Given the description of an element on the screen output the (x, y) to click on. 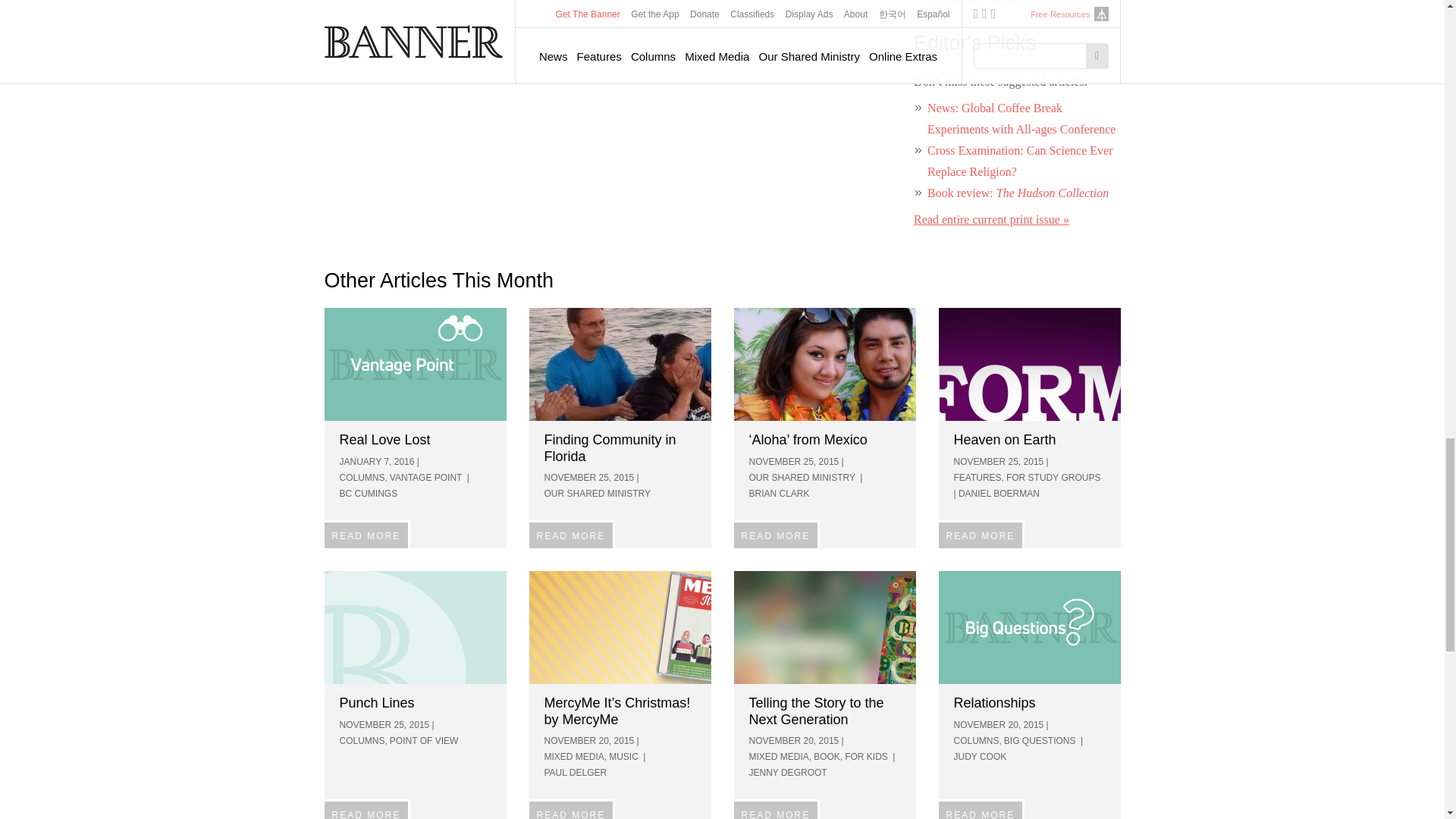
Cross Examination: Can Science Ever Replace Religion? (1019, 161)
Point of View (415, 626)
Book review: The Hudson Collection (1017, 192)
